Given the description of an element on the screen output the (x, y) to click on. 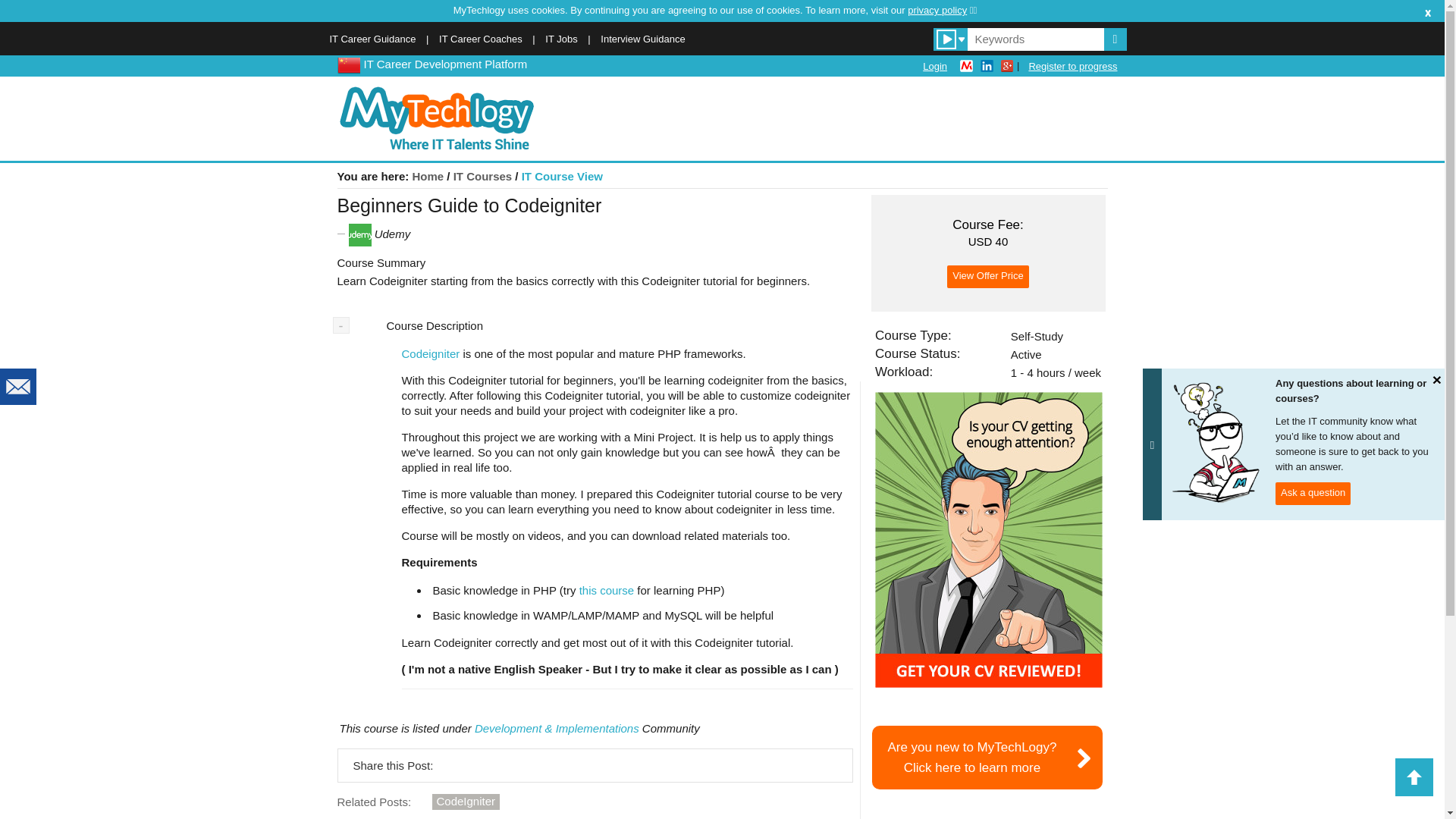
China (347, 63)
privacy policy  (941, 9)
Register to progress (987, 757)
this course (1071, 66)
CodeIgniter (606, 590)
View Offer Price (466, 801)
Codeigniter (987, 276)
View Offer Price (430, 353)
IT Jobs (987, 276)
